Given the description of an element on the screen output the (x, y) to click on. 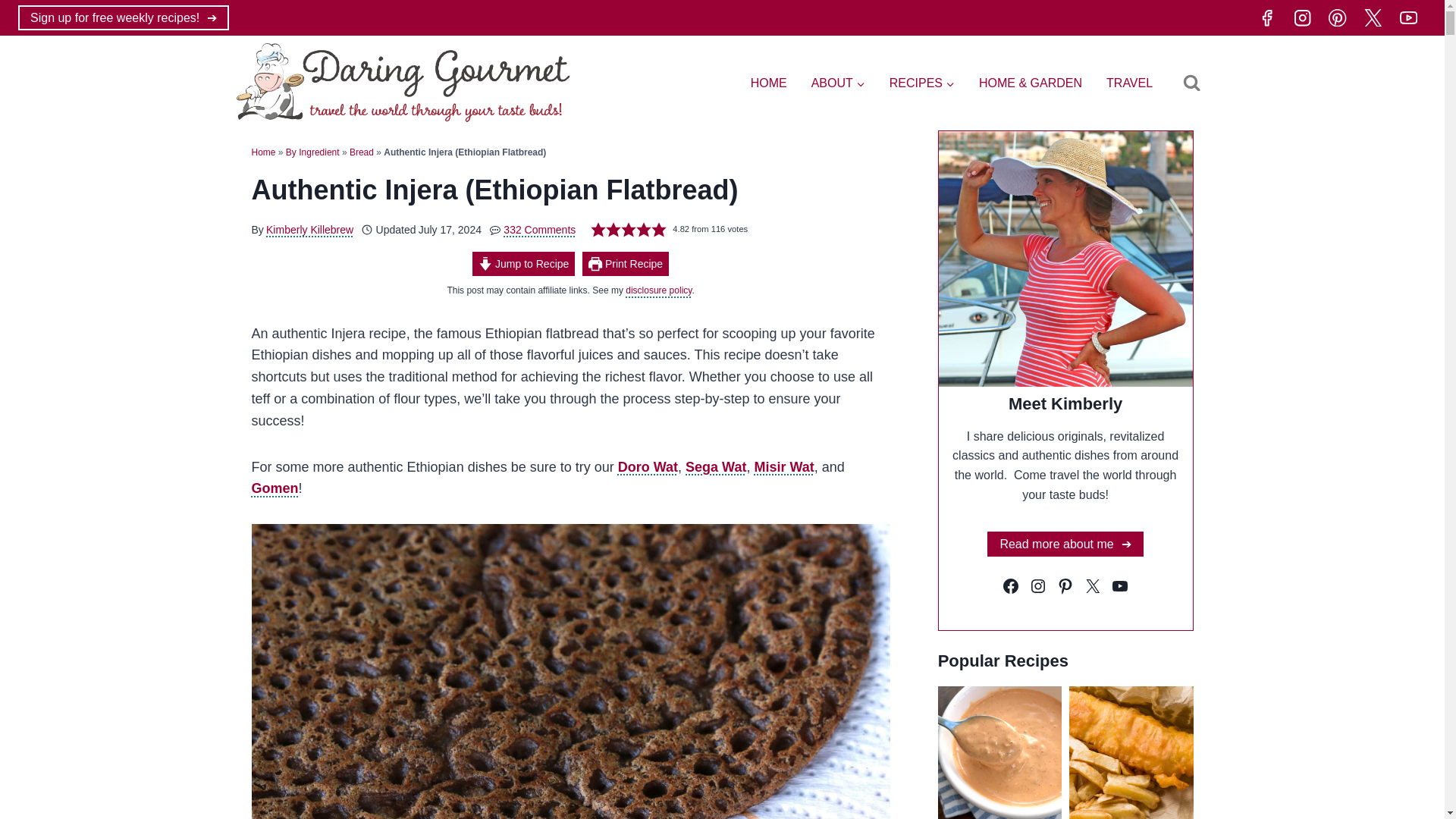
Jump to Recipe (523, 263)
HOME (768, 82)
Home (263, 152)
Sign up for free weekly recipes! (122, 17)
Kimberly Killebrew (309, 229)
Sega Wat (715, 467)
332 Comments (539, 229)
Doro Wat (647, 467)
332 Comments (539, 229)
Gomen (274, 488)
